Given the description of an element on the screen output the (x, y) to click on. 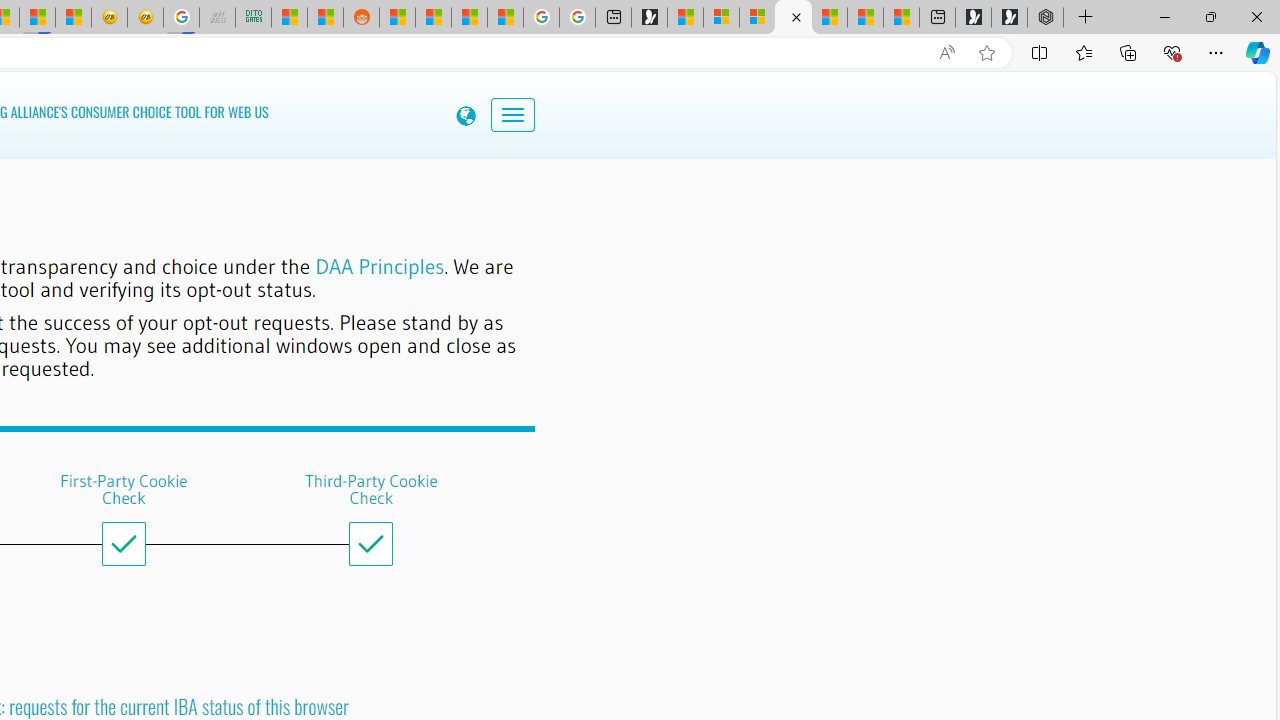
MSNBC - MSN (289, 17)
Navy Quest (217, 17)
These 3 Stocks Pay You More Than 5% to Own Them (901, 17)
Toggle navigation (513, 114)
DITOGAMES AG Imprint (253, 17)
